Given the description of an element on the screen output the (x, y) to click on. 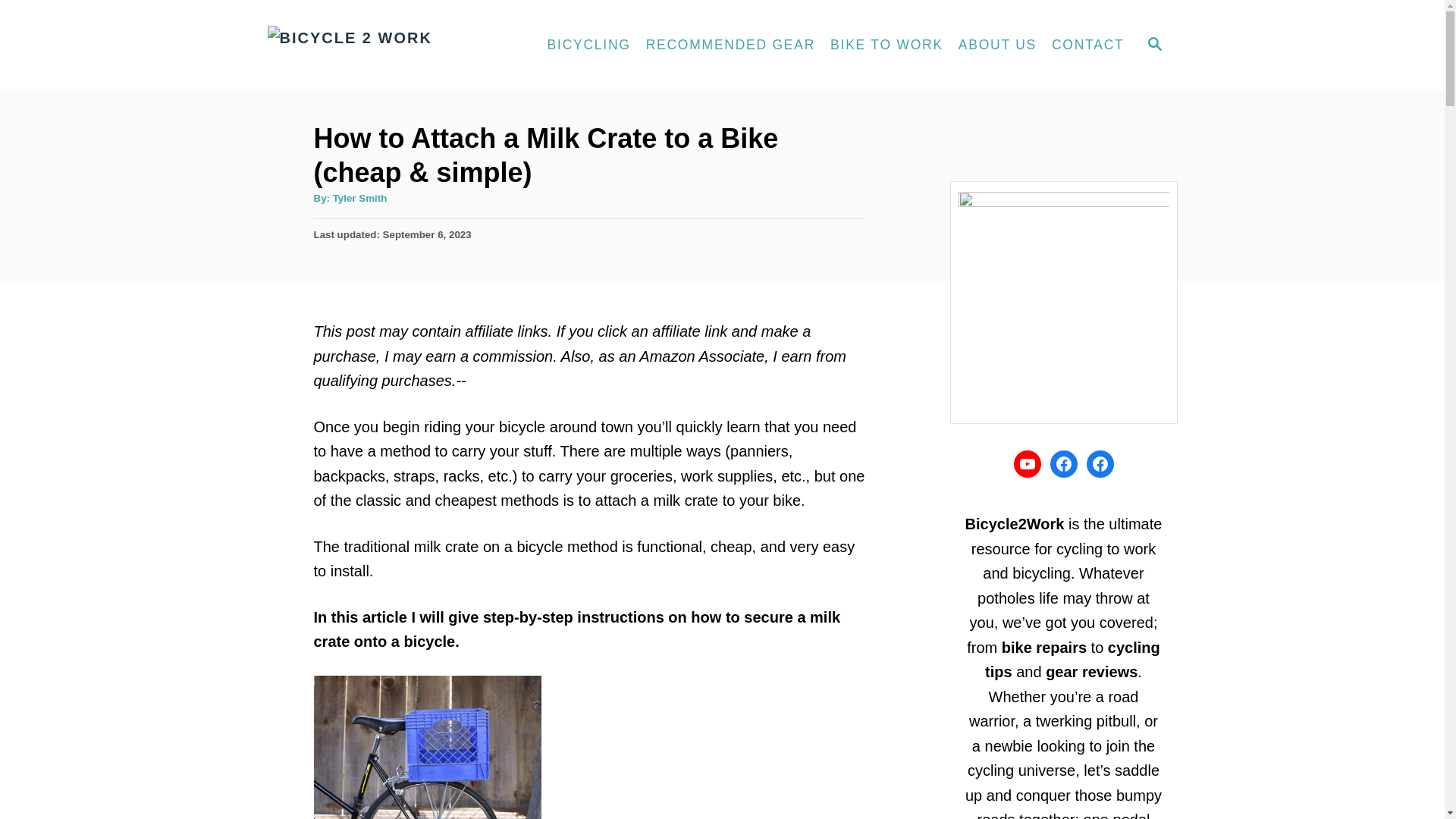
RECOMMENDED GEAR (730, 45)
BIKE TO WORK (886, 45)
ABOUT US (996, 45)
Bicycle 2 Work (391, 45)
Tyler Smith (360, 197)
CONTACT (1087, 45)
BICYCLING (1153, 45)
YouTube (589, 45)
MAGNIFYING GLASS (1027, 463)
Facebook (1153, 44)
Facebook (1063, 463)
